Given the description of an element on the screen output the (x, y) to click on. 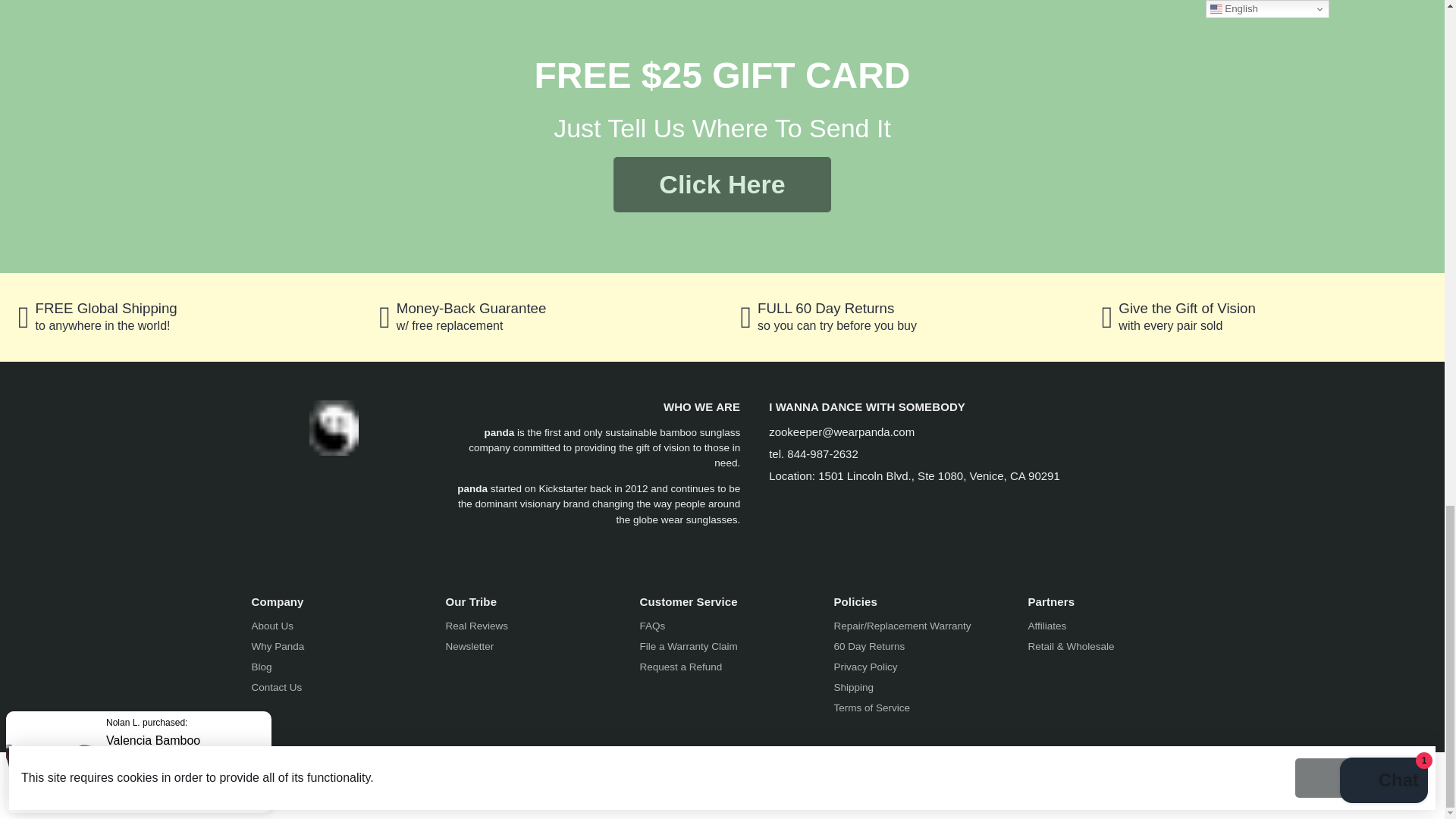
Click Here (720, 184)
